Given the description of an element on the screen output the (x, y) to click on. 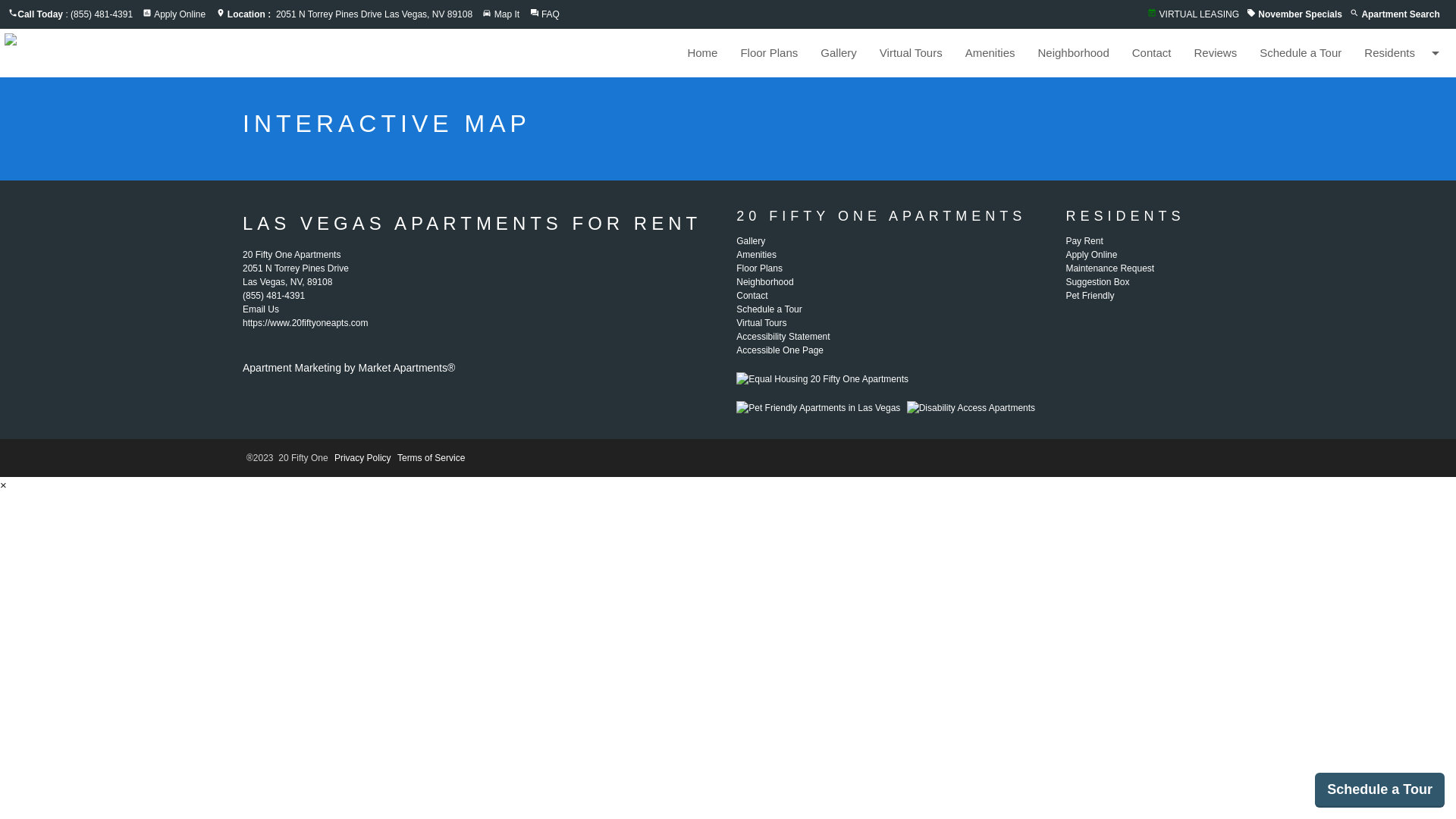
Home Element type: text (701, 52)
Amenities Element type: text (756, 254)
Disability Access Apartments Element type: hover (970, 407)
Schedule a Tour Element type: text (1300, 52)
Floor Plans Element type: text (768, 52)
Schedule a Tour Element type: text (1379, 789)
Contact Element type: text (1151, 52)
Terms of Service Element type: text (430, 457)
Reviews Element type: text (1215, 52)
Pet Friendly Element type: text (1089, 295)
Accessible One Page Element type: text (779, 350)
VIRTUAL LEASING Element type: text (1199, 14)
20 Fifty One Apartments in Las Vegas Element type: hover (210, 52)
Pet Friendly Apartments in Las Vegas Element type: hover (818, 407)
Neighborhood Element type: text (1073, 52)
Amenities Element type: text (989, 52)
Contact Element type: text (751, 295)
Virtual Tours Element type: text (910, 52)
Suggestion Box Element type: text (1097, 281)
Schedule a Tour Element type: text (769, 309)
FAQ Element type: text (550, 14)
Floor Plans Element type: text (759, 268)
Neighborhood Element type: text (764, 281)
November Specials Element type: text (1300, 14)
https://www.20fiftyoneapts.com Element type: text (304, 322)
Accessibility Statement Element type: text (782, 336)
Gallery Element type: text (750, 240)
Location :  2051 N Torrey Pines Drive Las Vegas, NV 89108 Element type: text (349, 14)
Accessible One Page Element type: text (54, 8)
Virtual Tours Element type: text (761, 322)
Gallery Element type: text (838, 52)
Maintenance Request Element type: text (1109, 268)
Apartment Search Element type: text (1400, 14)
Apply Online Element type: text (1091, 254)
Map It Element type: text (506, 14)
Pay Rent Element type: text (1083, 240)
Apply Online Element type: text (179, 14)
Email Us Element type: text (260, 309)
Privacy Policy Element type: text (362, 457)
Equal Housing 20 Fifty One Apartments Element type: hover (822, 378)
